Given the description of an element on the screen output the (x, y) to click on. 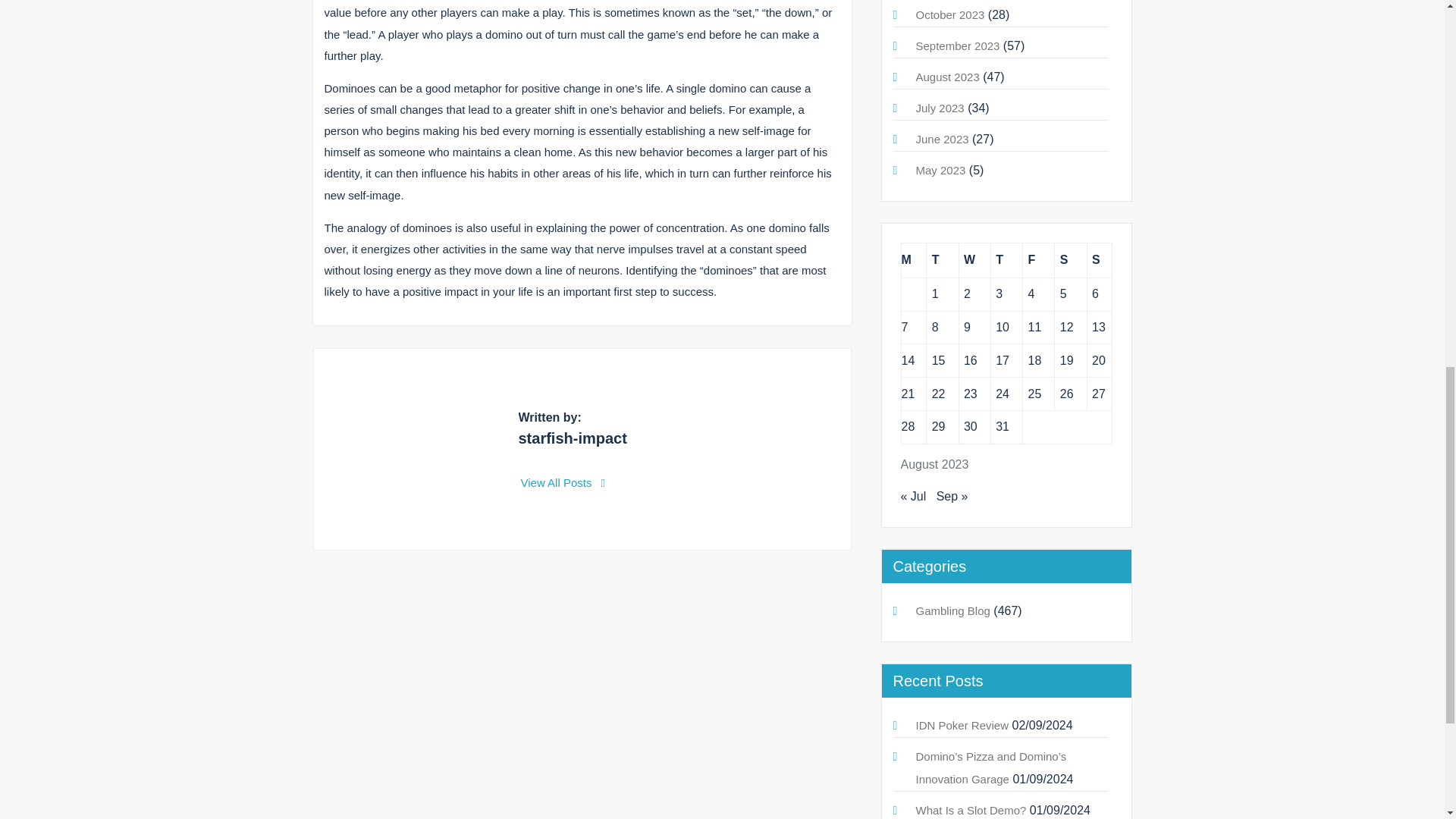
October 2023 (950, 14)
View All Posts (562, 481)
Tuesday (942, 260)
10 (1002, 327)
Friday (1038, 260)
15 (937, 359)
September 2023 (957, 45)
13 (1098, 327)
July 2023 (939, 107)
May 2023 (940, 169)
